Given the description of an element on the screen output the (x, y) to click on. 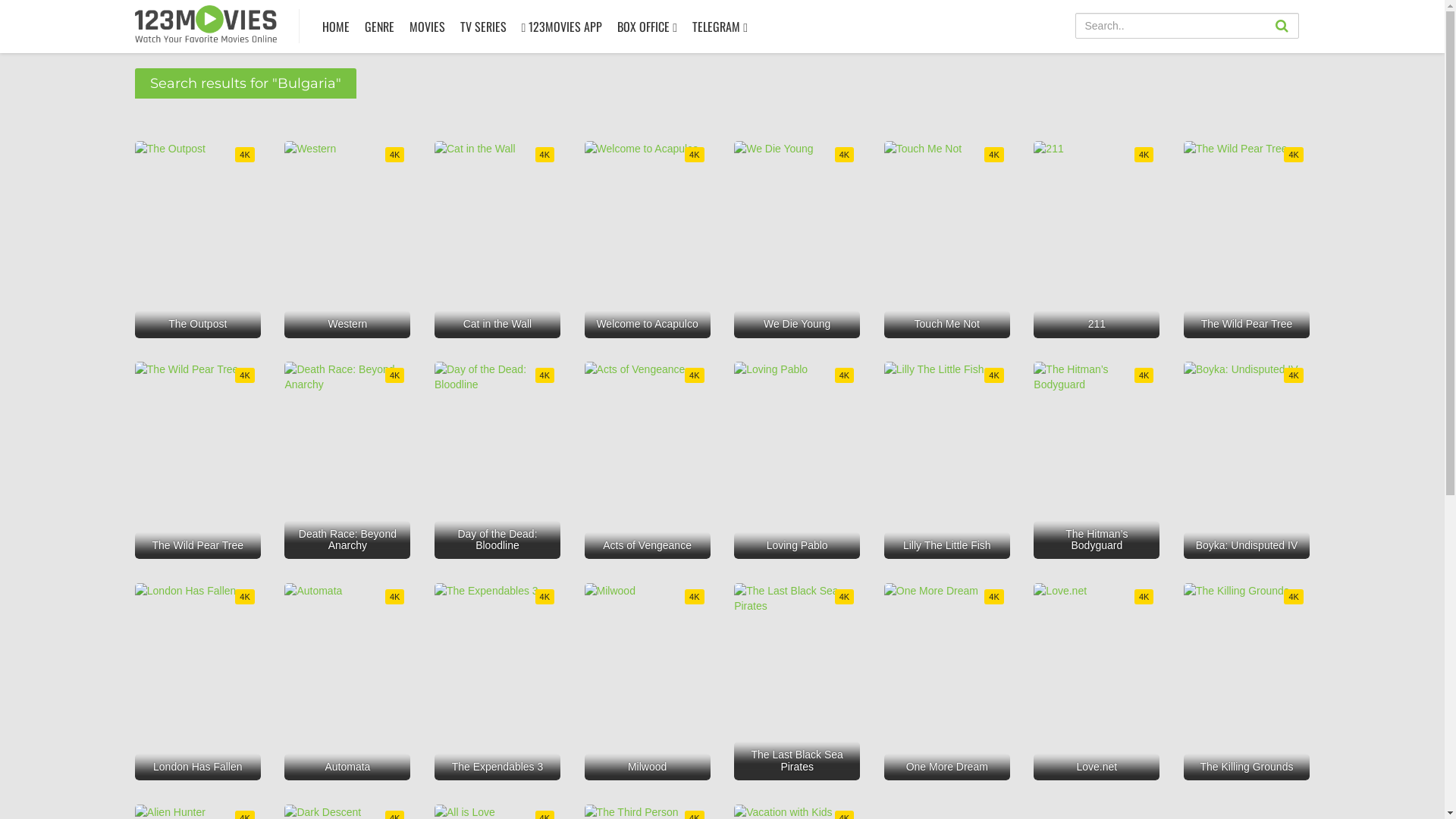
4K
Lilly The Little Fish Element type: text (947, 459)
4K
Death Race: Beyond Anarchy Element type: text (347, 459)
4K
Love.net Element type: text (1096, 681)
4K
The Last Black Sea Pirates Element type: text (796, 681)
4K
Milwood Element type: text (647, 681)
4K
The Wild Pear Tree Element type: text (197, 459)
MOVIES Element type: text (426, 26)
4K
London Has Fallen Element type: text (197, 681)
4K
Automata Element type: text (347, 681)
HOME Element type: text (335, 26)
4K
The Outpost Element type: text (197, 239)
4K
Touch Me Not Element type: text (947, 239)
4K
The Expendables 3 Element type: text (497, 681)
4K
Cat in the Wall Element type: text (497, 239)
4K
Welcome to Acapulco Element type: text (647, 239)
4K
Western Element type: text (347, 239)
4K
Boyka: Undisputed IV Element type: text (1246, 459)
4K
We Die Young Element type: text (796, 239)
4K
Acts of Vengeance Element type: text (647, 459)
4K
Day of the Dead: Bloodline Element type: text (497, 459)
4K
Loving Pablo Element type: text (796, 459)
4K
The Wild Pear Tree Element type: text (1246, 239)
4K
211 Element type: text (1096, 239)
GENRE Element type: text (379, 26)
4K
The Killing Grounds Element type: text (1246, 681)
4K
One More Dream Element type: text (947, 681)
TV SERIES Element type: text (483, 26)
123movies Element type: hover (205, 23)
